Given the description of an element on the screen output the (x, y) to click on. 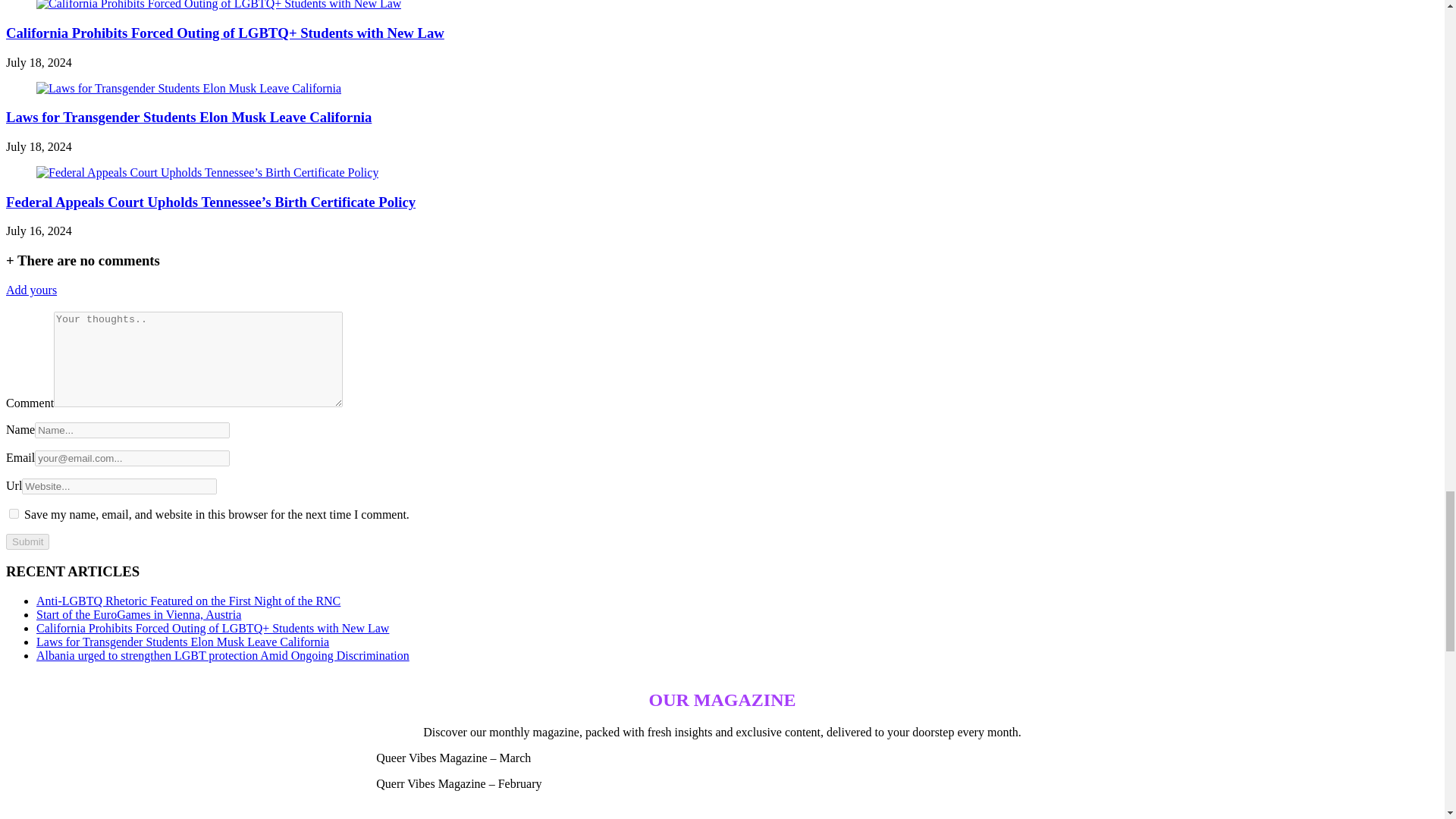
yes (13, 513)
Submit (27, 541)
